Given the description of an element on the screen output the (x, y) to click on. 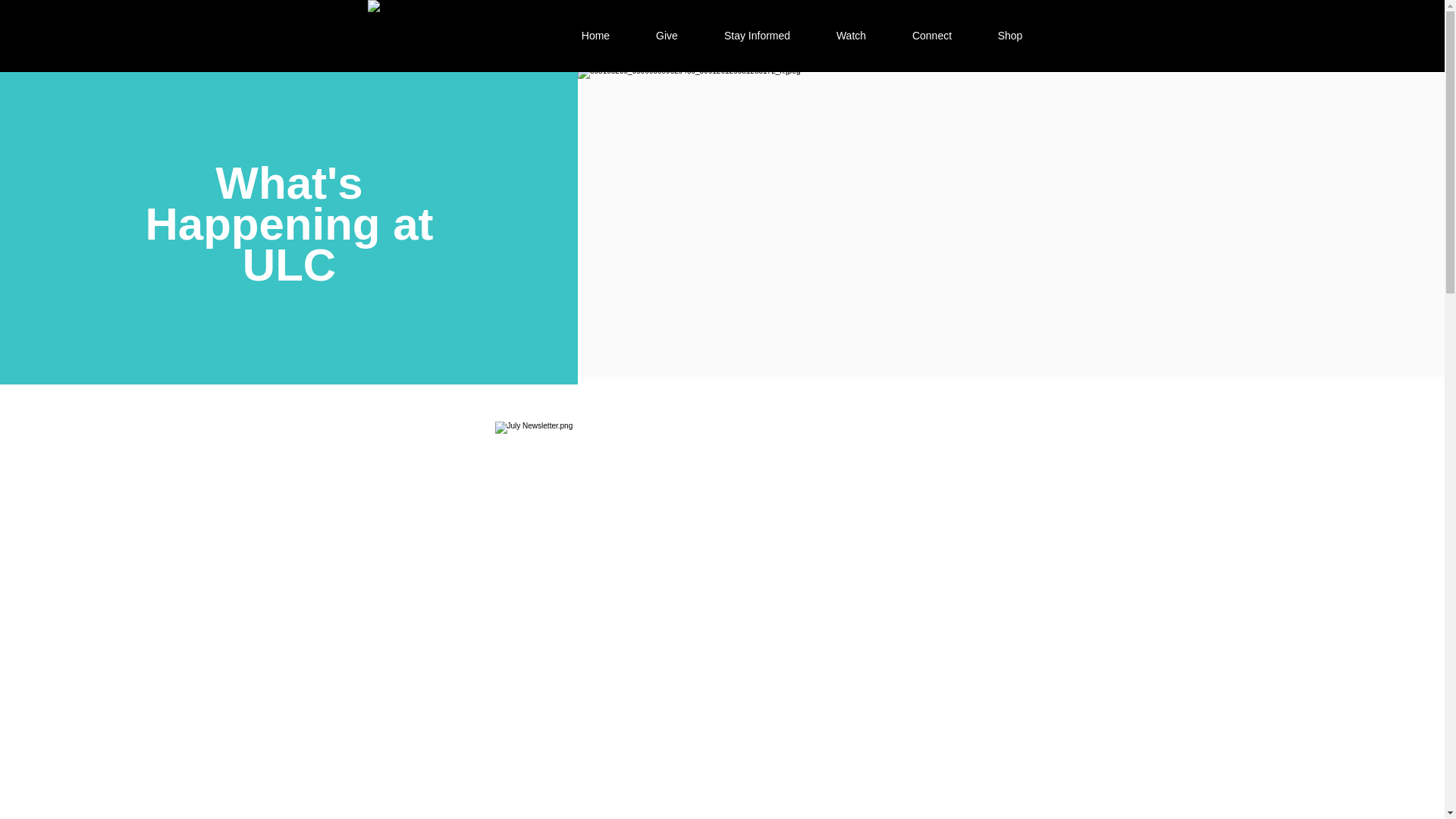
Stay Informed (756, 35)
Give (665, 35)
Shop (1010, 35)
Home (594, 35)
Connect (931, 35)
Watch (850, 35)
